Given the description of an element on the screen output the (x, y) to click on. 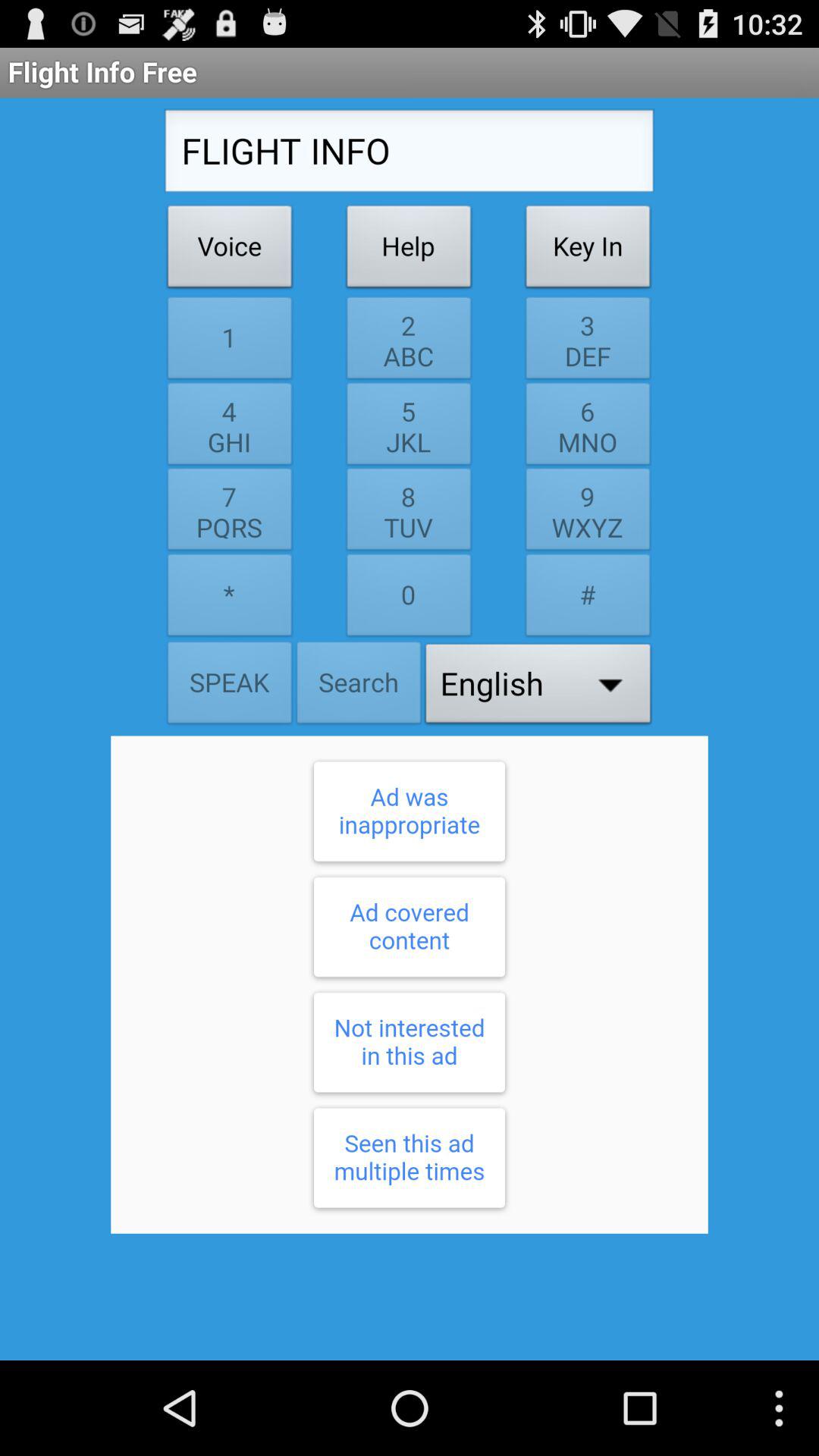
select response (409, 984)
